Given the description of an element on the screen output the (x, y) to click on. 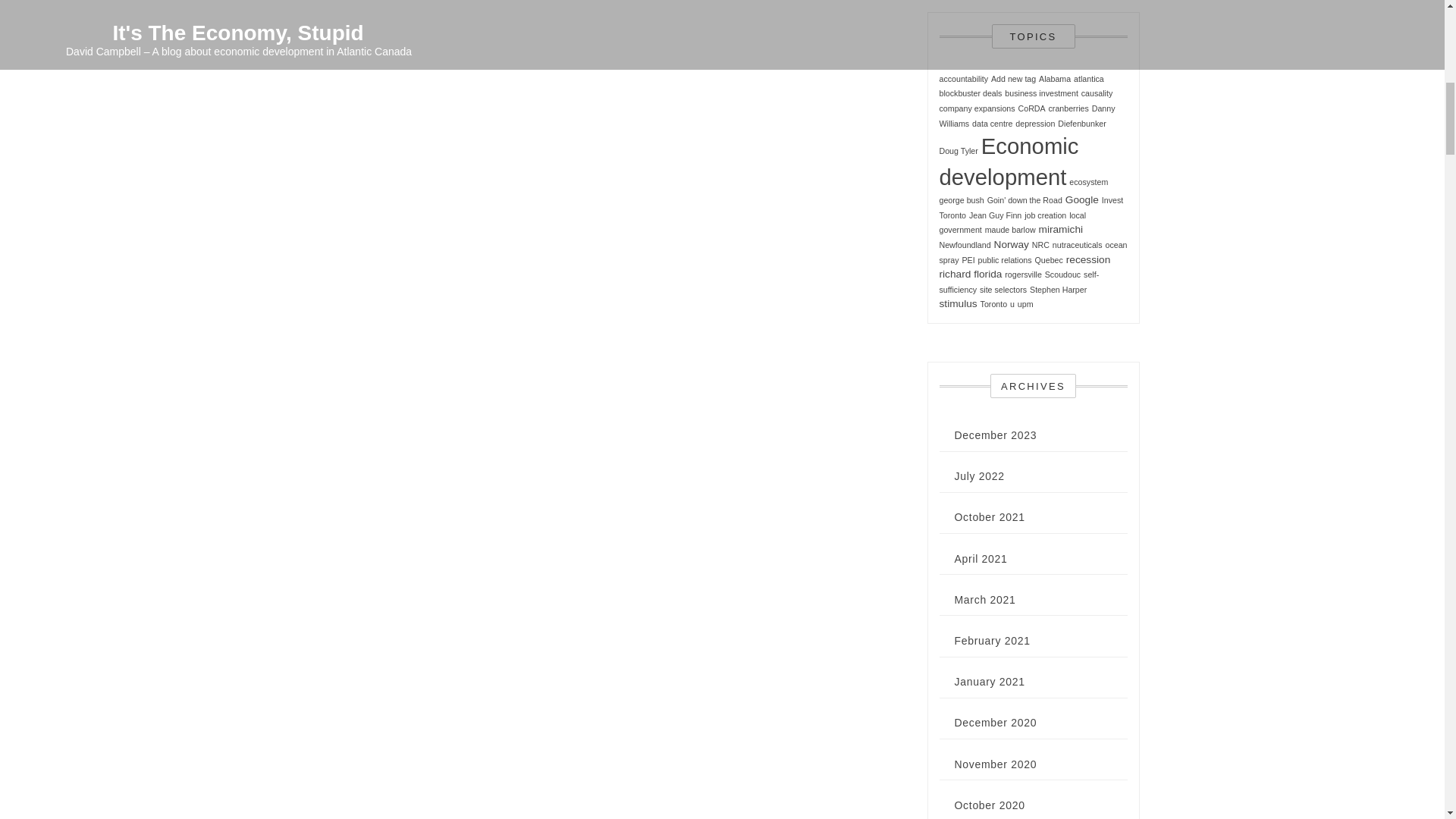
local government (1012, 222)
Add new tag (1013, 78)
business investment (1041, 92)
Diefenbunker (1081, 122)
miramichi (1061, 229)
Alabama (1054, 78)
atlantica (1088, 78)
data centre (991, 122)
CoRDA (1031, 108)
maude barlow (1010, 229)
blockbuster deals (970, 92)
Goin' down the Road (1024, 199)
job creation (1045, 215)
causality (1096, 92)
Doug Tyler (957, 150)
